Given the description of an element on the screen output the (x, y) to click on. 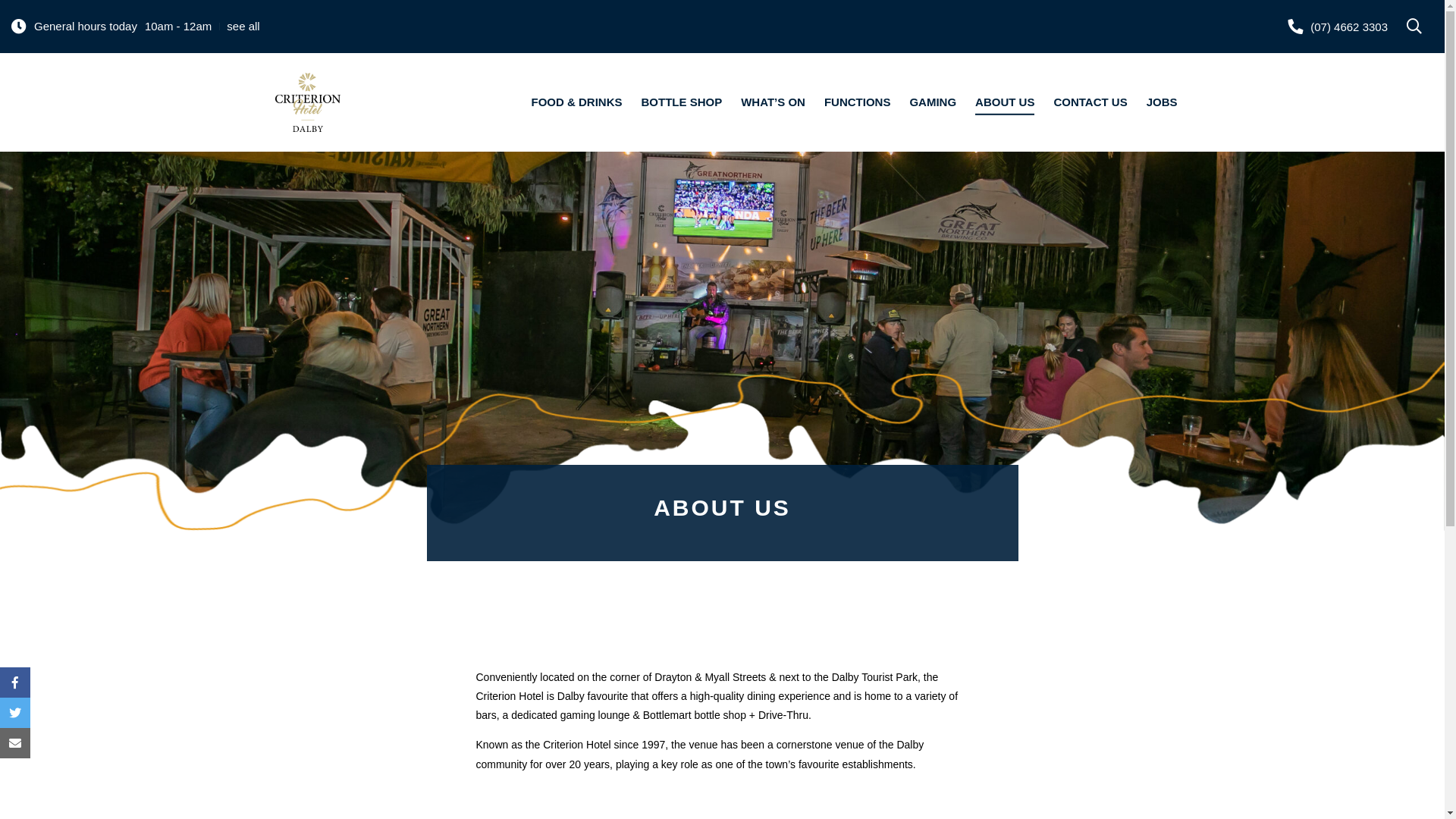
JOBS Element type: text (1161, 105)
see all Element type: text (242, 25)
GAMING Element type: text (932, 105)
FUNCTIONS Element type: text (857, 105)
FOOD & DRINKS Element type: text (576, 105)
BOTTLE SHOP Element type: text (681, 105)
(07) 4662 3303 Element type: text (1337, 26)
CONTACT US Element type: text (1089, 105)
ABOUT US Element type: text (1004, 105)
